Given the description of an element on the screen output the (x, y) to click on. 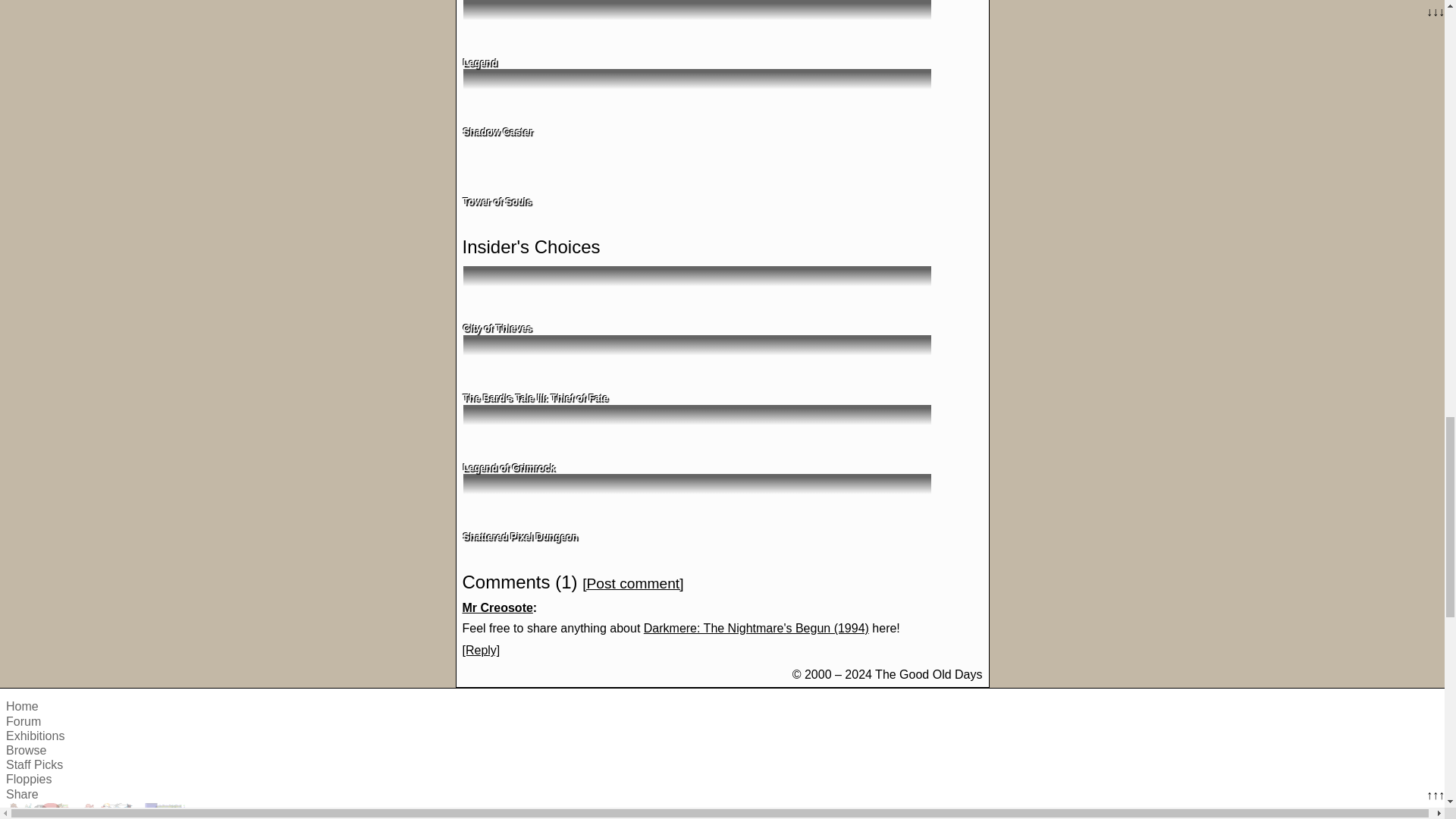
City of Thieves (696, 300)
Tower of Souls (696, 172)
Browse (25, 749)
Legend of Grimrock (696, 438)
Legend of Grimrock (696, 438)
Forum (22, 721)
The Bard's Tale III: Thief of Fate (696, 368)
The Good Old Days (100, 811)
Shattered Pixel Dungeon (696, 508)
The Bard's Tale III: Thief of Fate (696, 368)
Shadow Caster (696, 102)
Legend (696, 33)
Shadow Caster (696, 102)
Exhibitions (34, 735)
City of Thieves (696, 300)
